Given the description of an element on the screen output the (x, y) to click on. 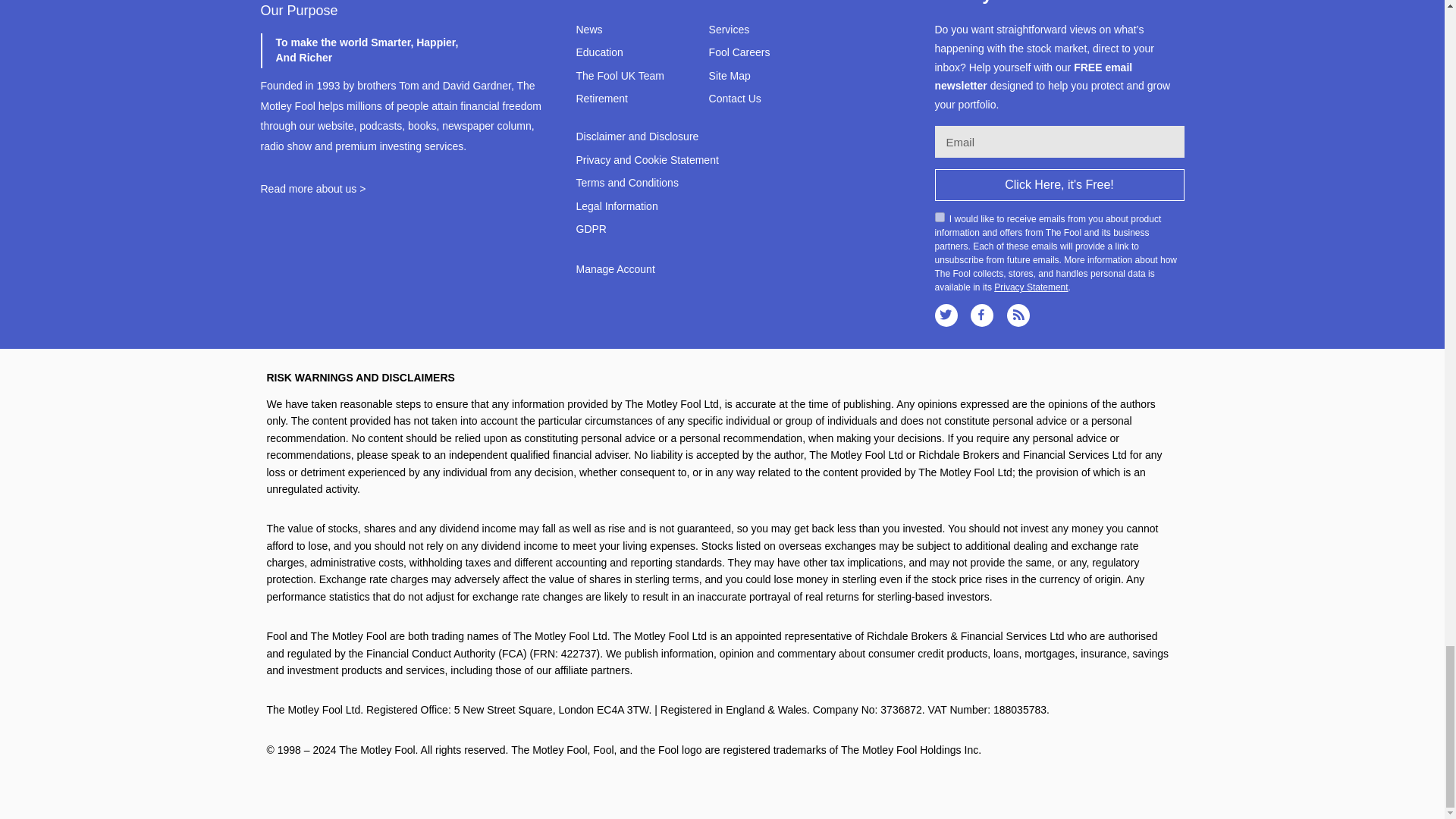
true (938, 216)
